Given the description of an element on the screen output the (x, y) to click on. 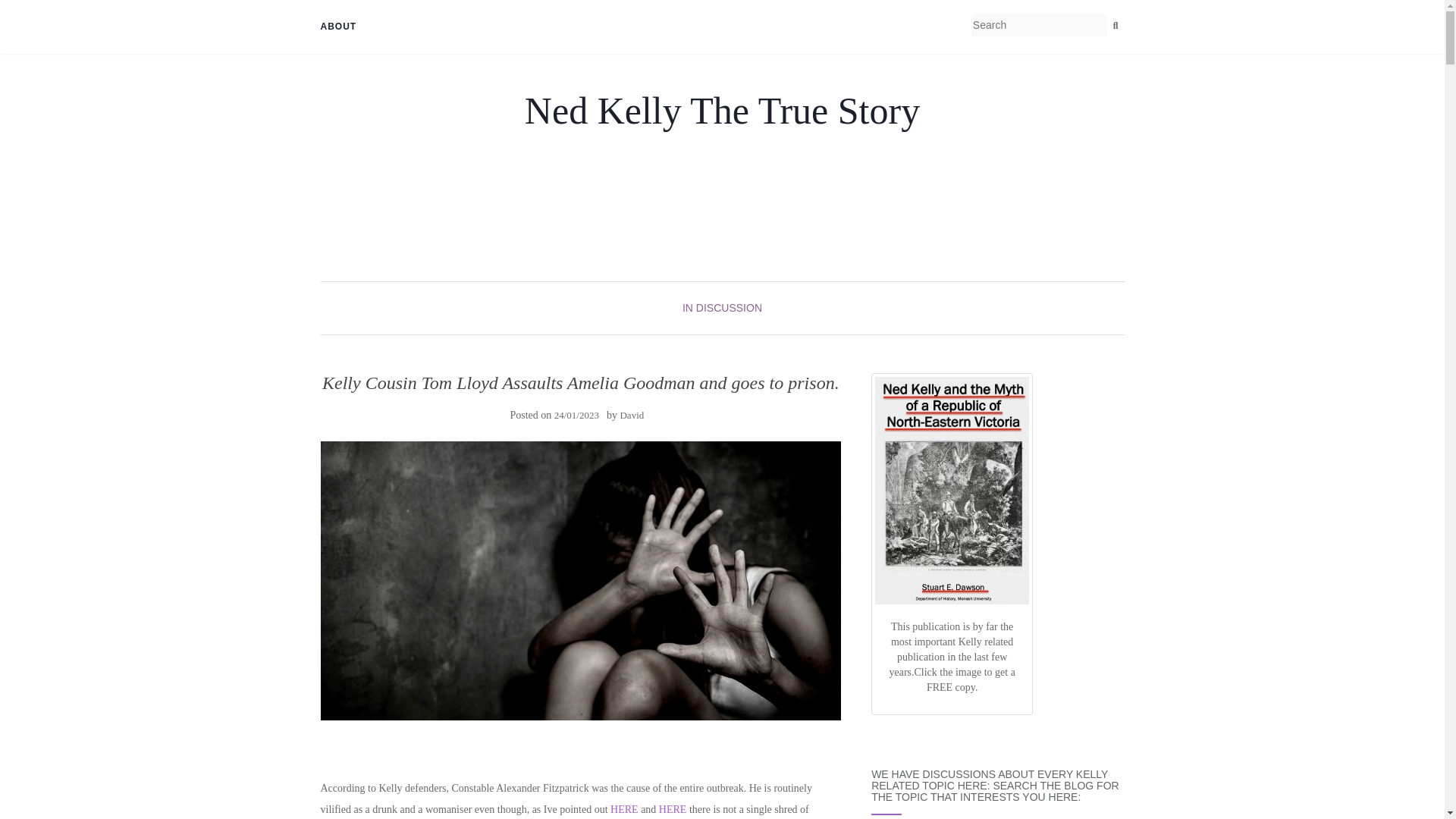
IN DISCUSSION (721, 307)
David (631, 414)
Ned Kelly The True Story (722, 110)
HERE (624, 808)
HERE (673, 808)
Ned Kelly The True Story (722, 110)
